Given the description of an element on the screen output the (x, y) to click on. 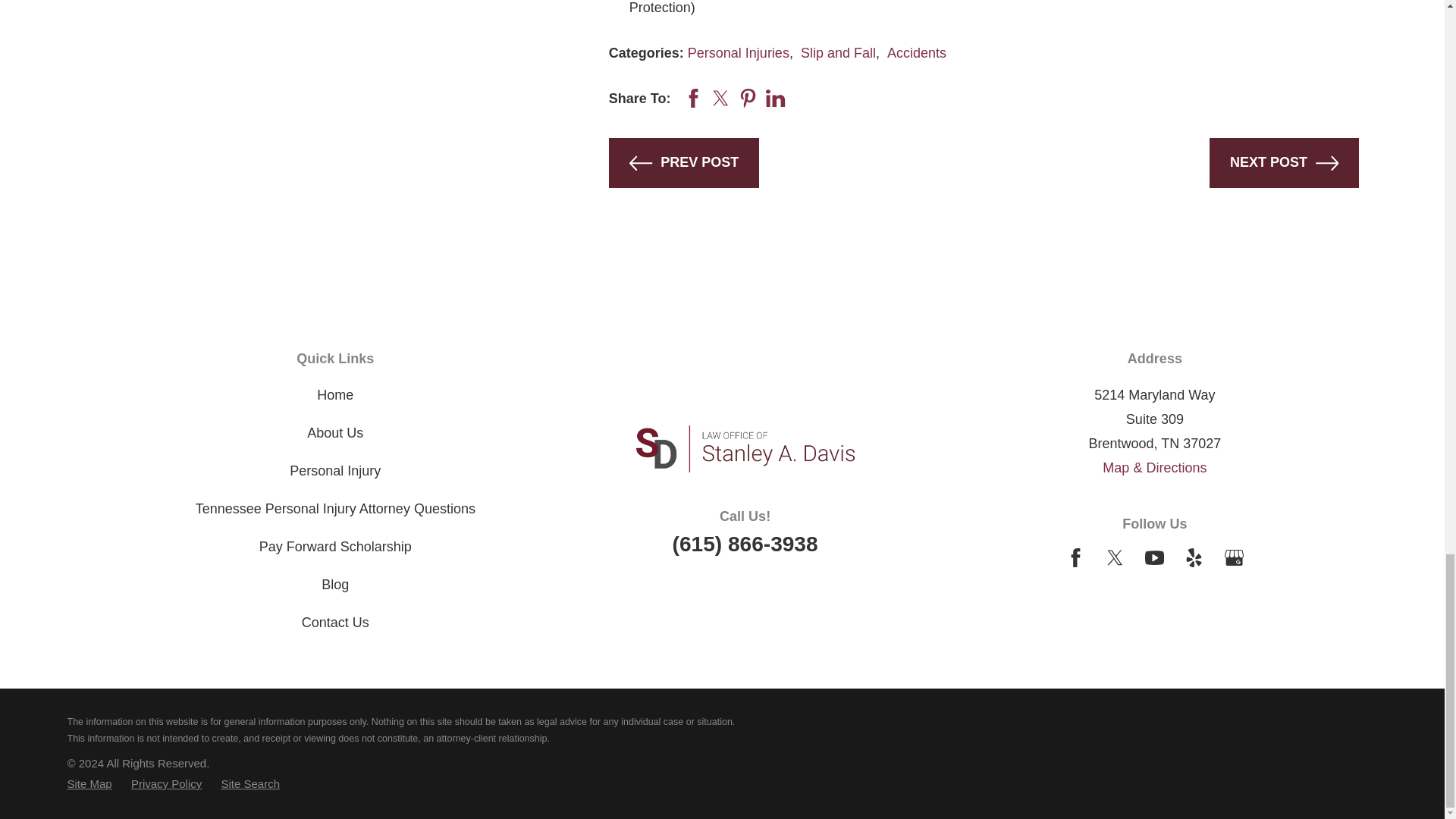
Twitter (1114, 557)
Home (745, 448)
YouTube (1153, 557)
Facebook (1074, 557)
